Given the description of an element on the screen output the (x, y) to click on. 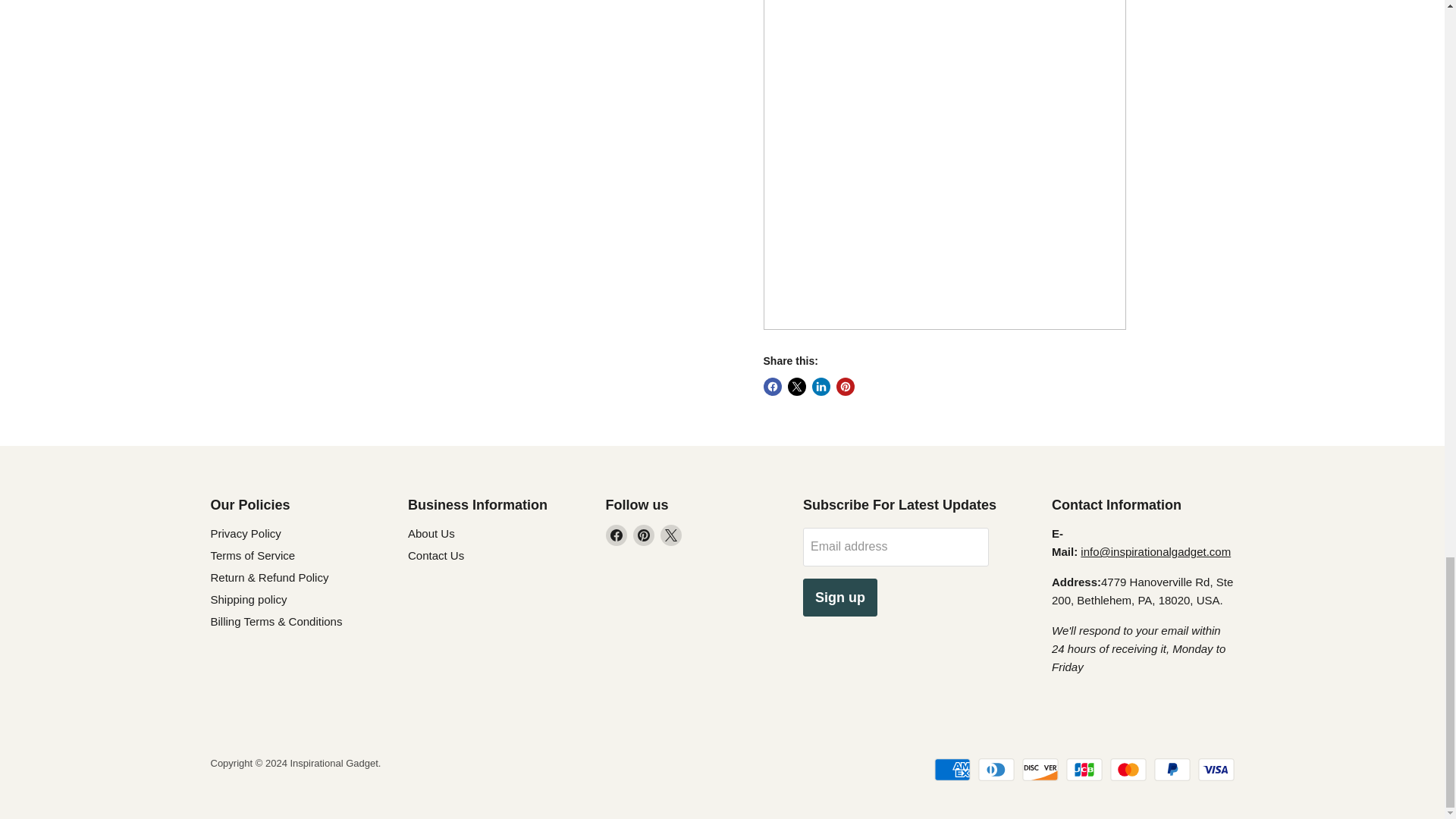
Discover (1040, 769)
PayPal (1172, 769)
Pinterest (642, 535)
Diners Club (996, 769)
Privacy Policy (246, 533)
JCB (1083, 769)
Mastercard (1128, 769)
American Express (952, 769)
Share on X (796, 386)
Facebook (615, 535)
Pin on Pinterest (844, 386)
Share on Facebook (771, 386)
Terms of Service (253, 554)
Share on LinkedIn (819, 386)
X (670, 535)
